Given the description of an element on the screen output the (x, y) to click on. 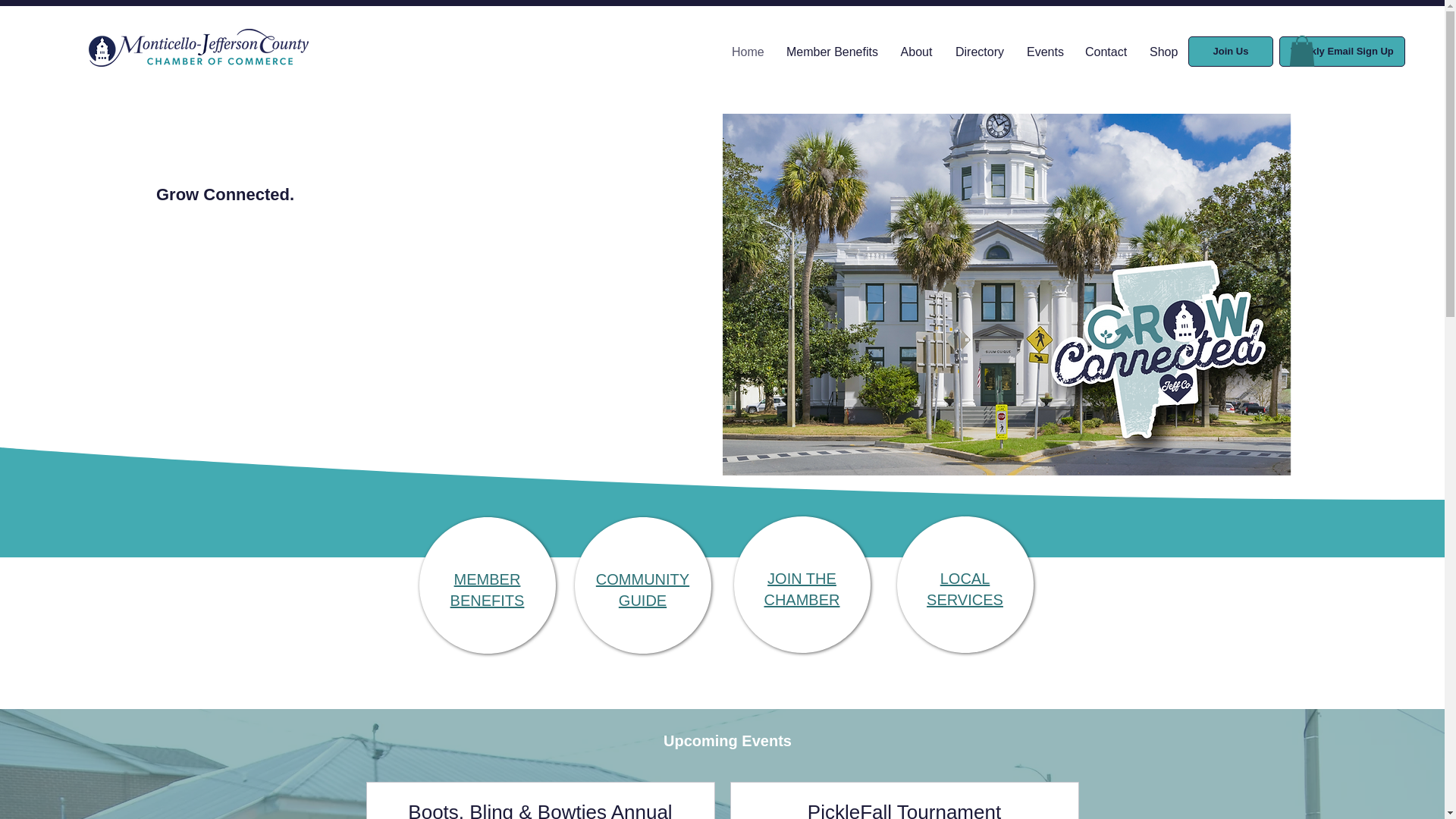
Join Us (1230, 51)
Events (1044, 52)
Contact (1106, 52)
Shop (1163, 52)
About (915, 52)
Weekly Email Sign Up (1342, 51)
Member Benefits (964, 589)
